Given the description of an element on the screen output the (x, y) to click on. 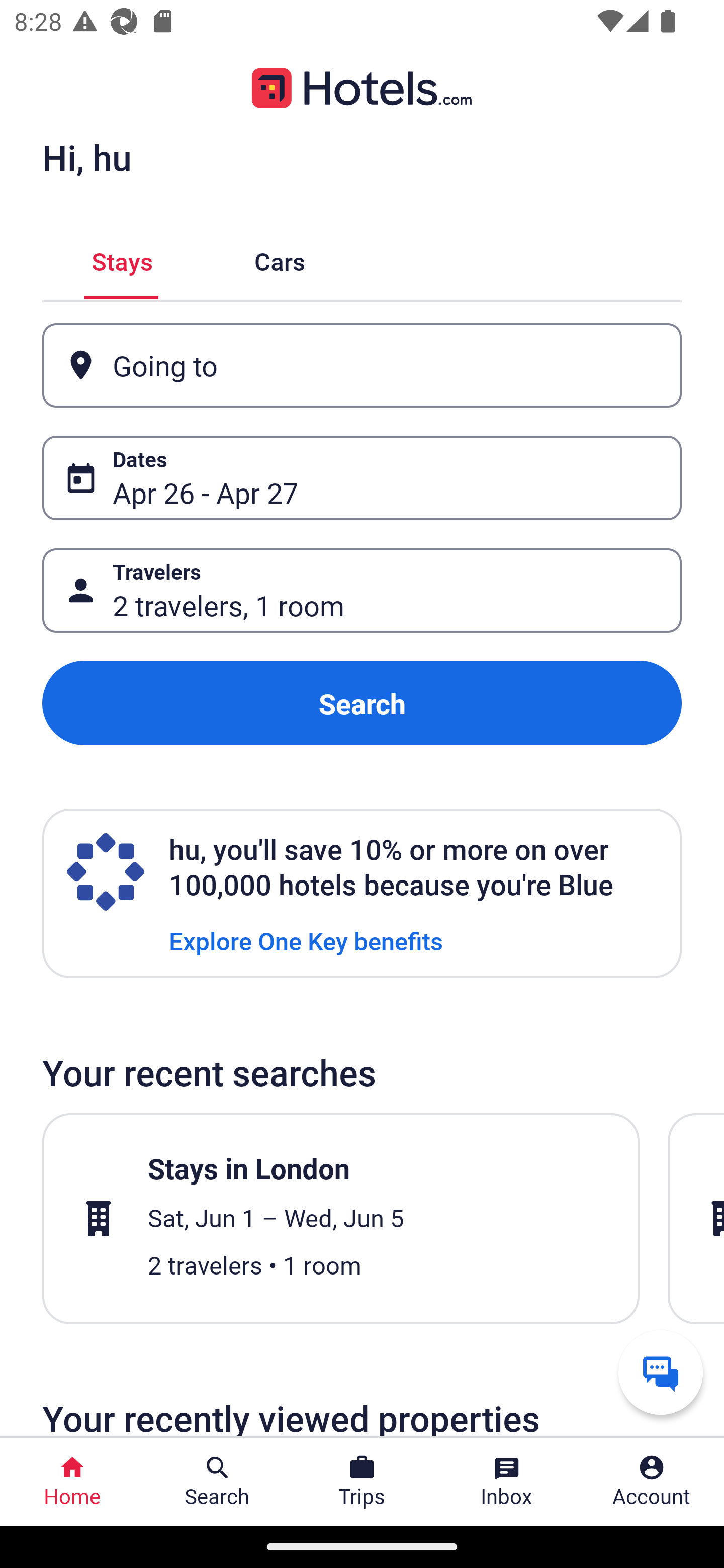
Hi, hu (86, 156)
Cars (279, 259)
Going to Button (361, 365)
Dates Button Apr 26 - Apr 27 (361, 477)
Travelers Button 2 travelers, 1 room (361, 590)
Search (361, 702)
Get help from a virtual agent (660, 1371)
Search Search Button (216, 1481)
Trips Trips Button (361, 1481)
Inbox Inbox Button (506, 1481)
Account Profile. Button (651, 1481)
